Given the description of an element on the screen output the (x, y) to click on. 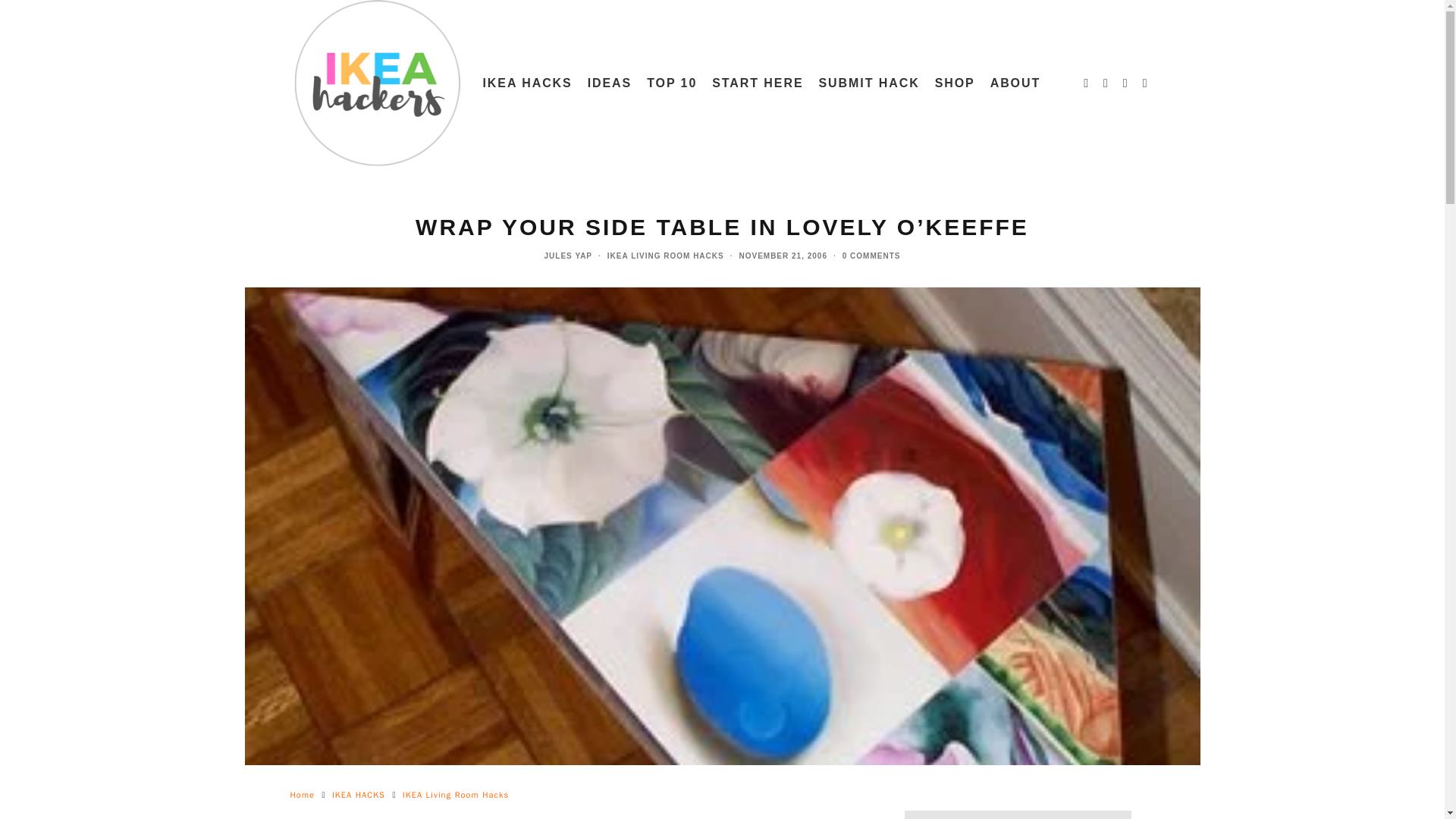
START HERE (757, 83)
IKEA Ideas by Categories (609, 83)
IKEA Hacks by Categories (526, 83)
ABOUT (1015, 83)
SHOP (954, 83)
SUBMIT HACK (868, 83)
IKEA LIVING ROOM HACKS (665, 255)
0 COMMENTS (872, 255)
Hack of the Year (671, 83)
